Given the description of an element on the screen output the (x, y) to click on. 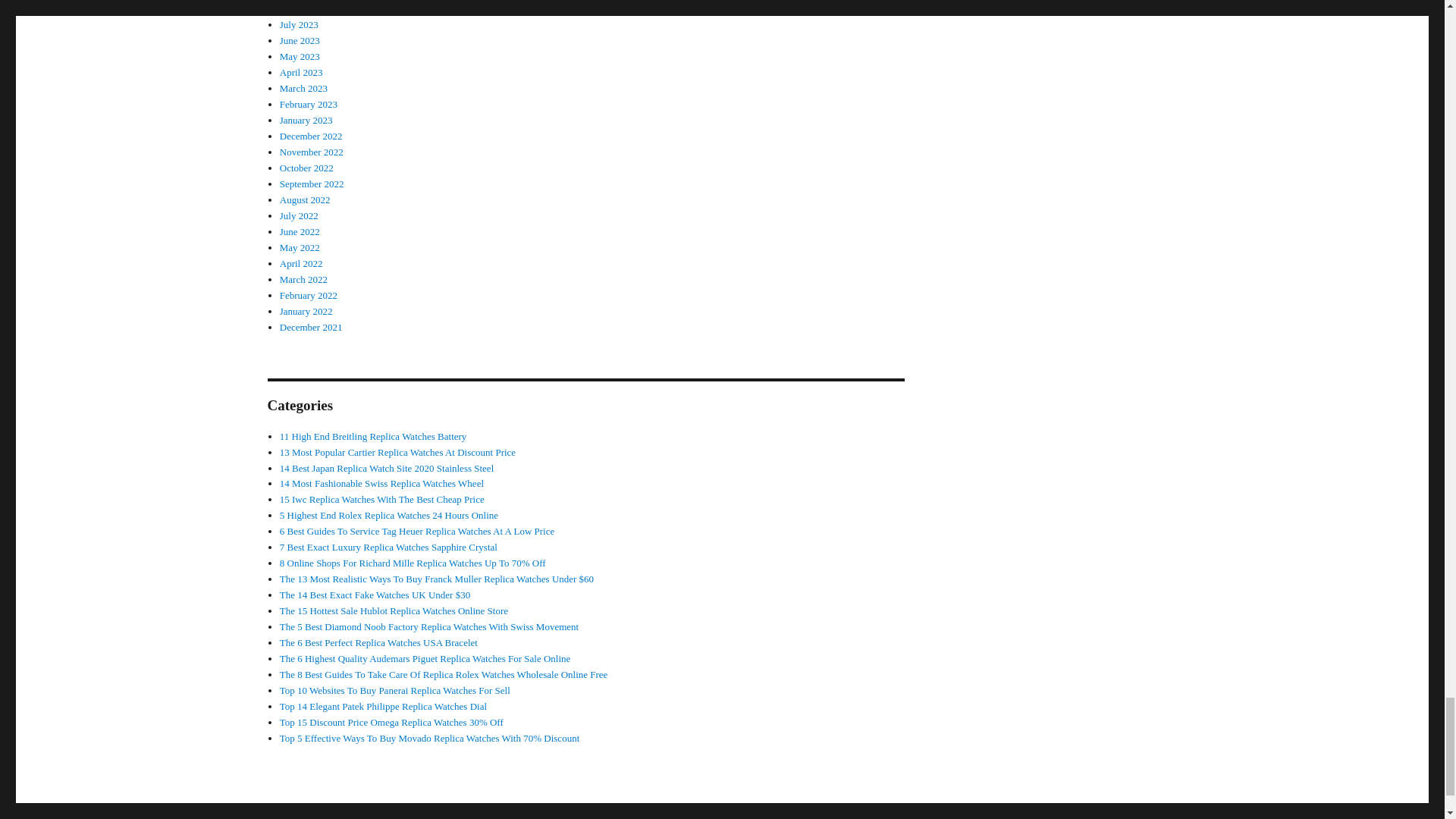
December 2022 (310, 135)
March 2023 (303, 88)
April 2023 (301, 71)
August 2023 (304, 8)
July 2023 (298, 24)
November 2022 (311, 152)
September 2022 (311, 183)
May 2023 (299, 56)
October 2022 (306, 167)
June 2023 (299, 40)
